Given the description of an element on the screen output the (x, y) to click on. 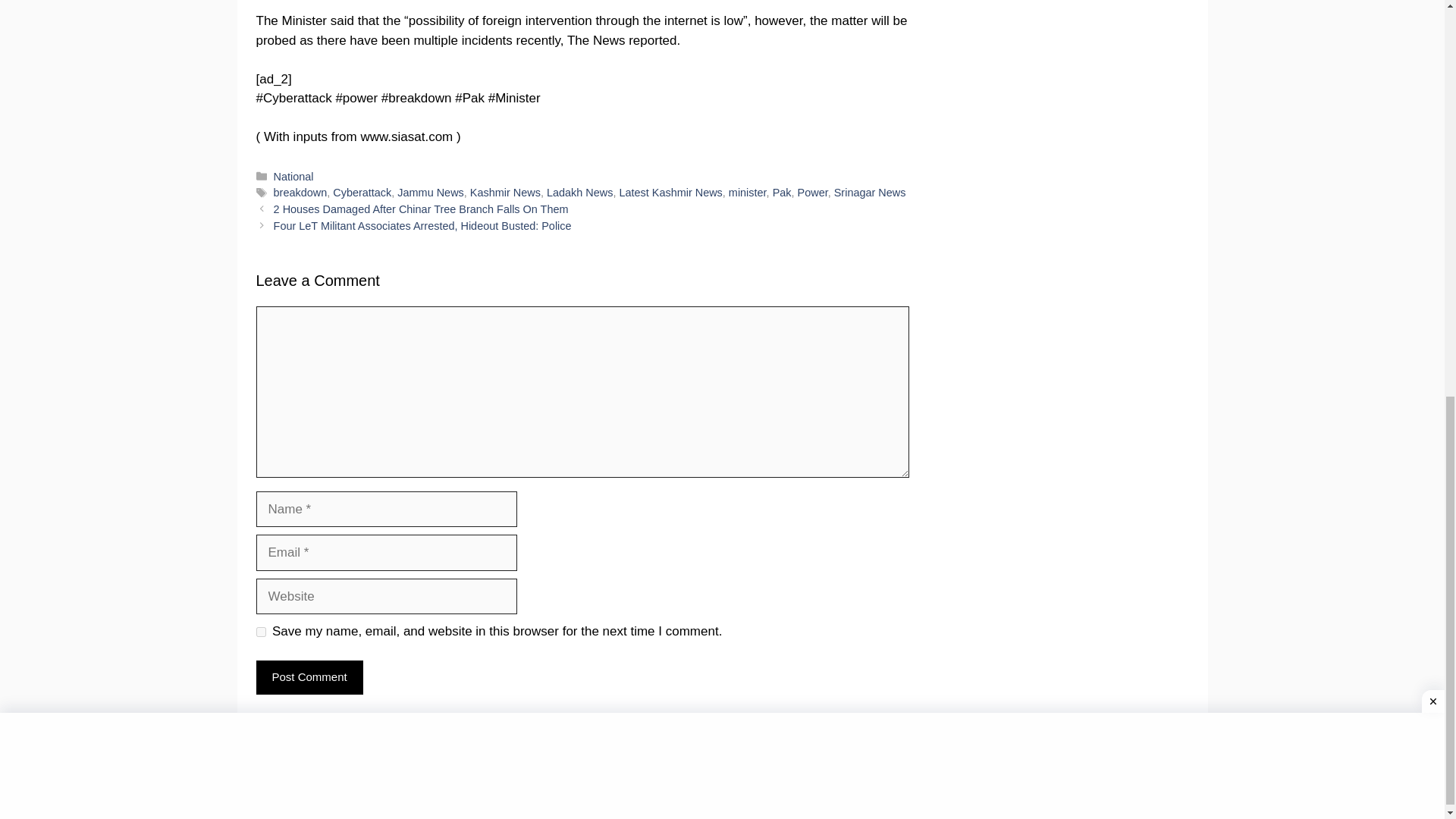
National (293, 176)
Kashmir News (505, 192)
Cyberattack (362, 192)
Terms and Conditions (1089, 777)
Pak (782, 192)
Latest Kashmir News (670, 192)
GeneratePress (359, 793)
Power (812, 192)
minister (748, 192)
Contact Us (713, 777)
Post Comment (309, 677)
Jammu News (430, 192)
2 Houses Damaged After Chinar Tree Branch Falls On Them (421, 209)
Privacy Policy (511, 793)
